Given the description of an element on the screen output the (x, y) to click on. 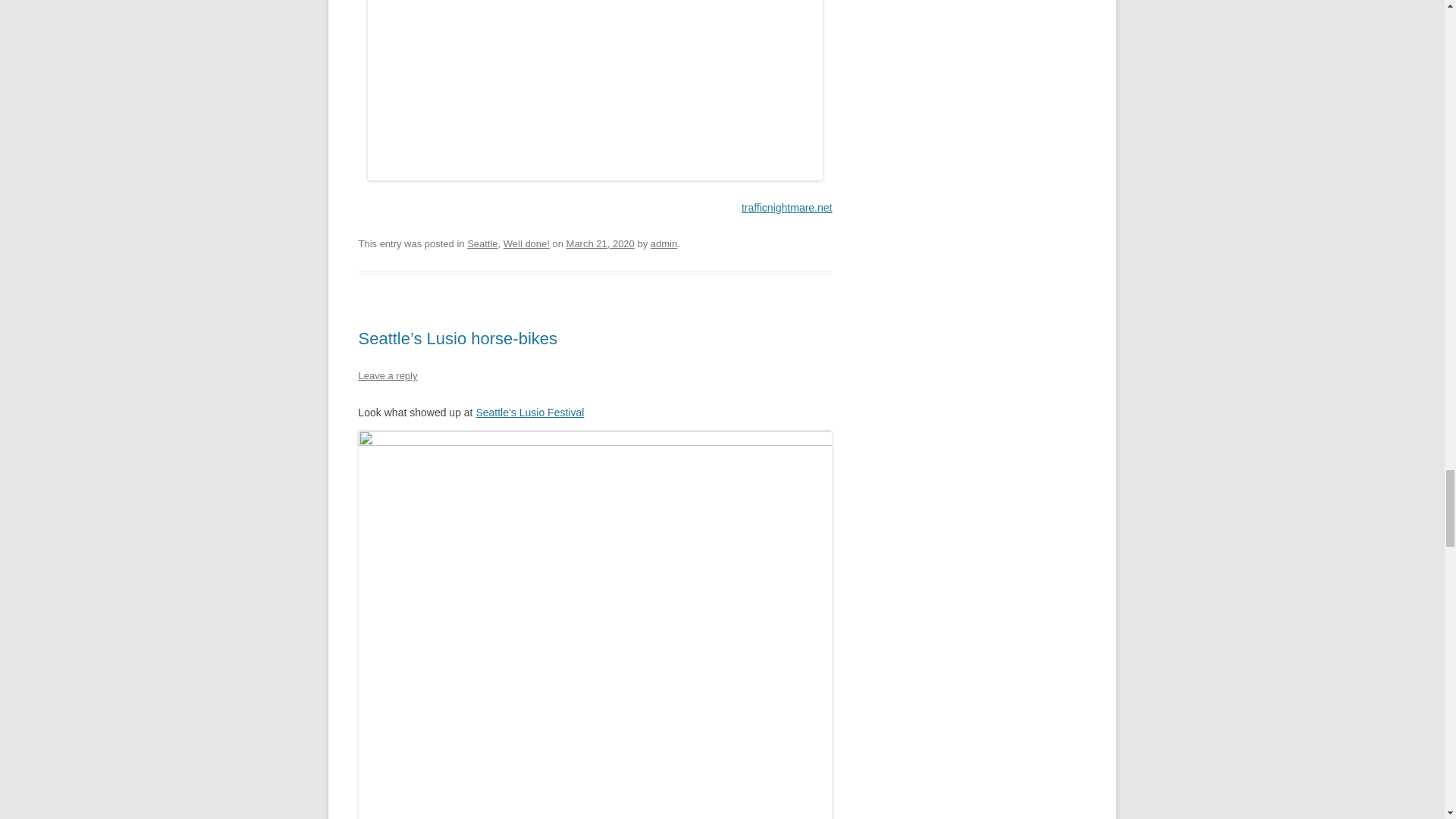
12:00 am (600, 243)
